Given the description of an element on the screen output the (x, y) to click on. 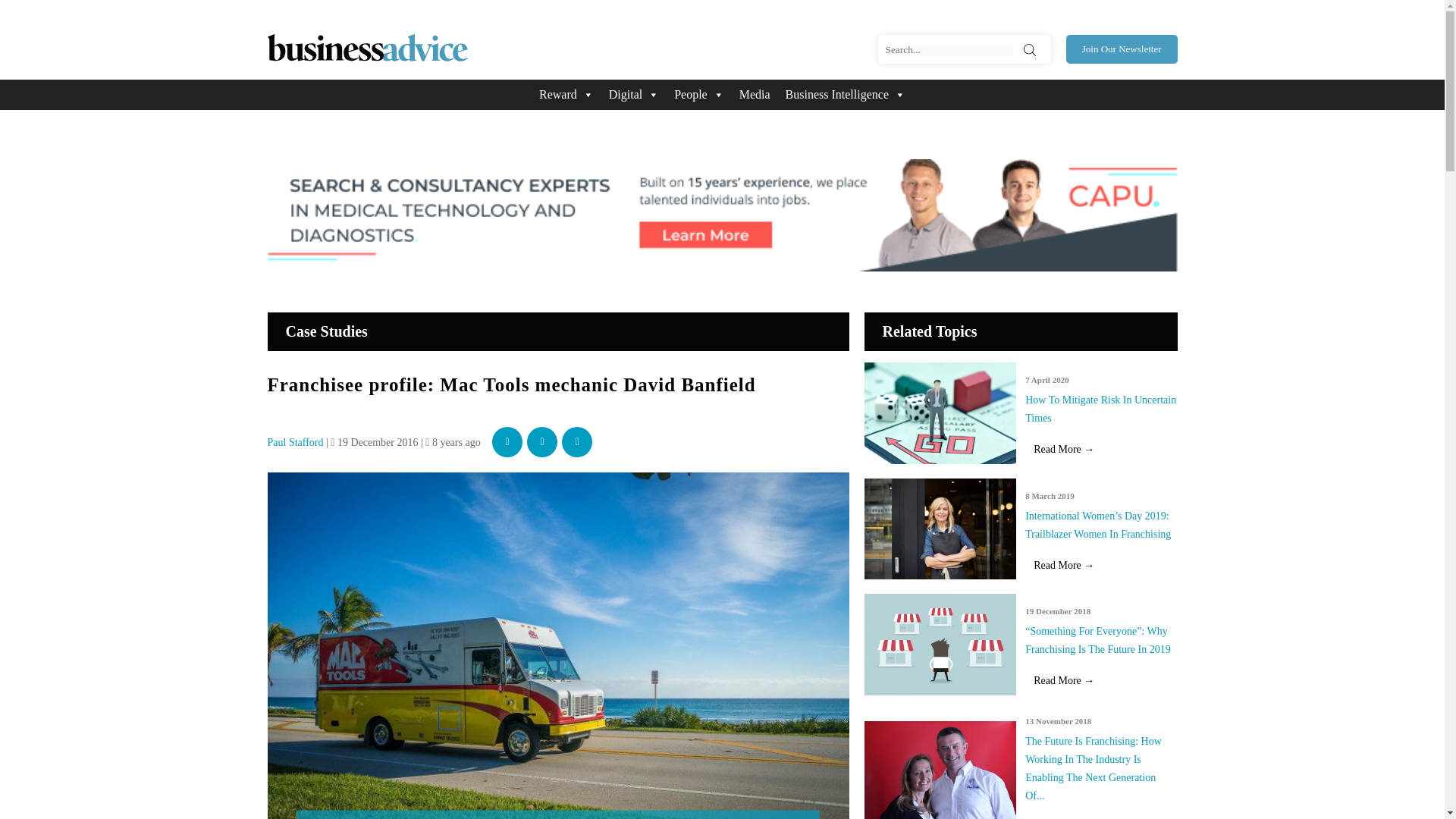
Reward (566, 94)
Digital (633, 94)
Linkedin (577, 441)
Twitter (542, 441)
Media (754, 94)
Search (1029, 50)
Business Intelligence (844, 94)
Search (1029, 50)
Search (1029, 50)
People (699, 94)
Join Our Newsletter (1121, 49)
Paul Stafford (294, 441)
Facebook (507, 441)
